Given the description of an element on the screen output the (x, y) to click on. 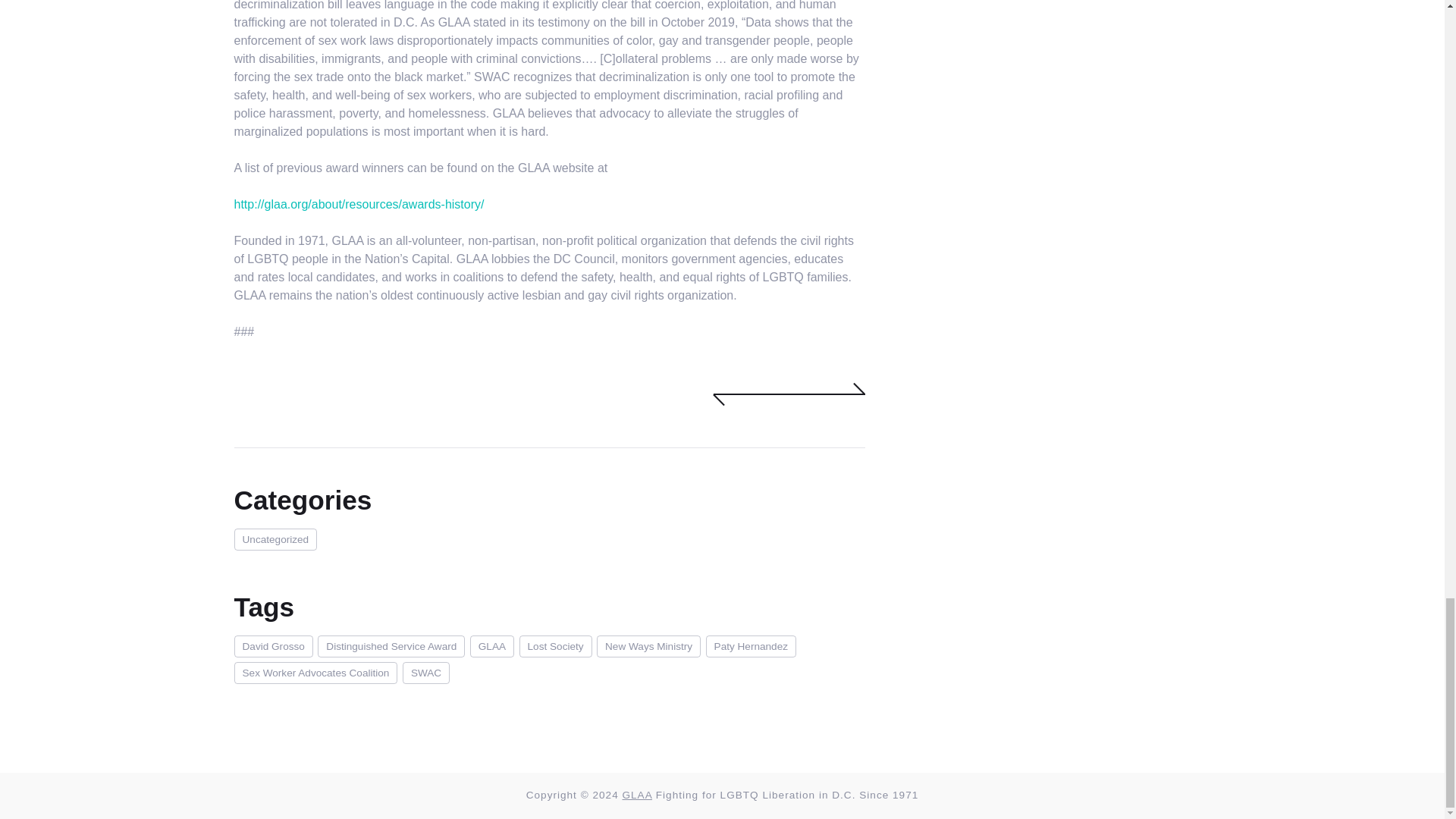
Uncategorized (275, 538)
Sex Worker Advocates Coalition (316, 671)
PREV ARTICLE (751, 394)
NEXT ARTICLE (826, 394)
Distinguished Service Award (392, 645)
GLAA (638, 794)
SWAC (427, 671)
David Grosso (274, 645)
Paty Hernandez (751, 645)
New Ways Ministry (651, 645)
GLAA (494, 645)
Lost Society (557, 645)
